Given the description of an element on the screen output the (x, y) to click on. 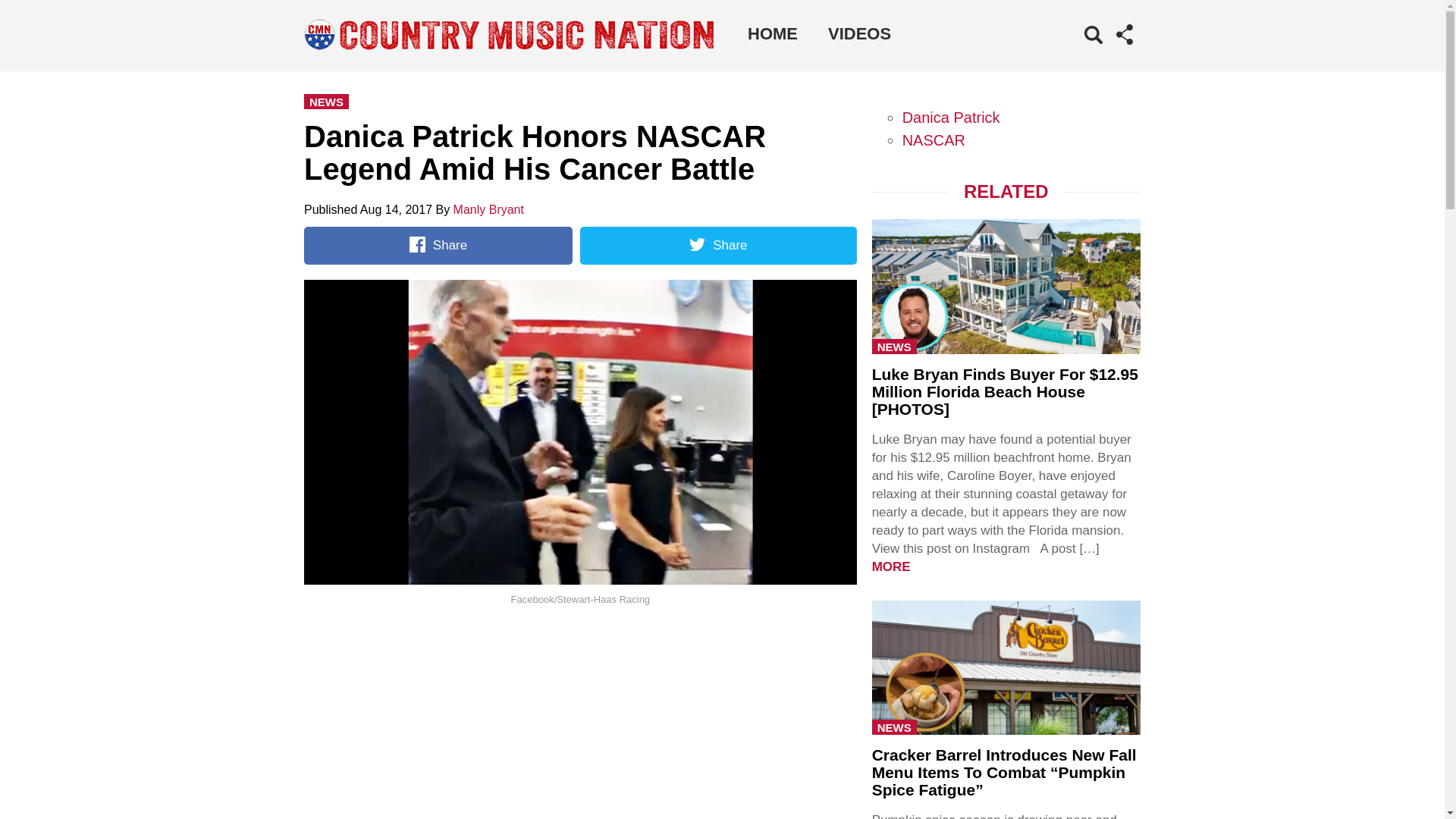
Search (1071, 57)
Danica Patrick (951, 117)
Search (1071, 57)
NEWS (894, 726)
NEWS (894, 346)
Videos (858, 33)
VIDEOS (858, 33)
Home (772, 33)
Share (717, 245)
cracker barrel apples (1006, 666)
